Given the description of an element on the screen output the (x, y) to click on. 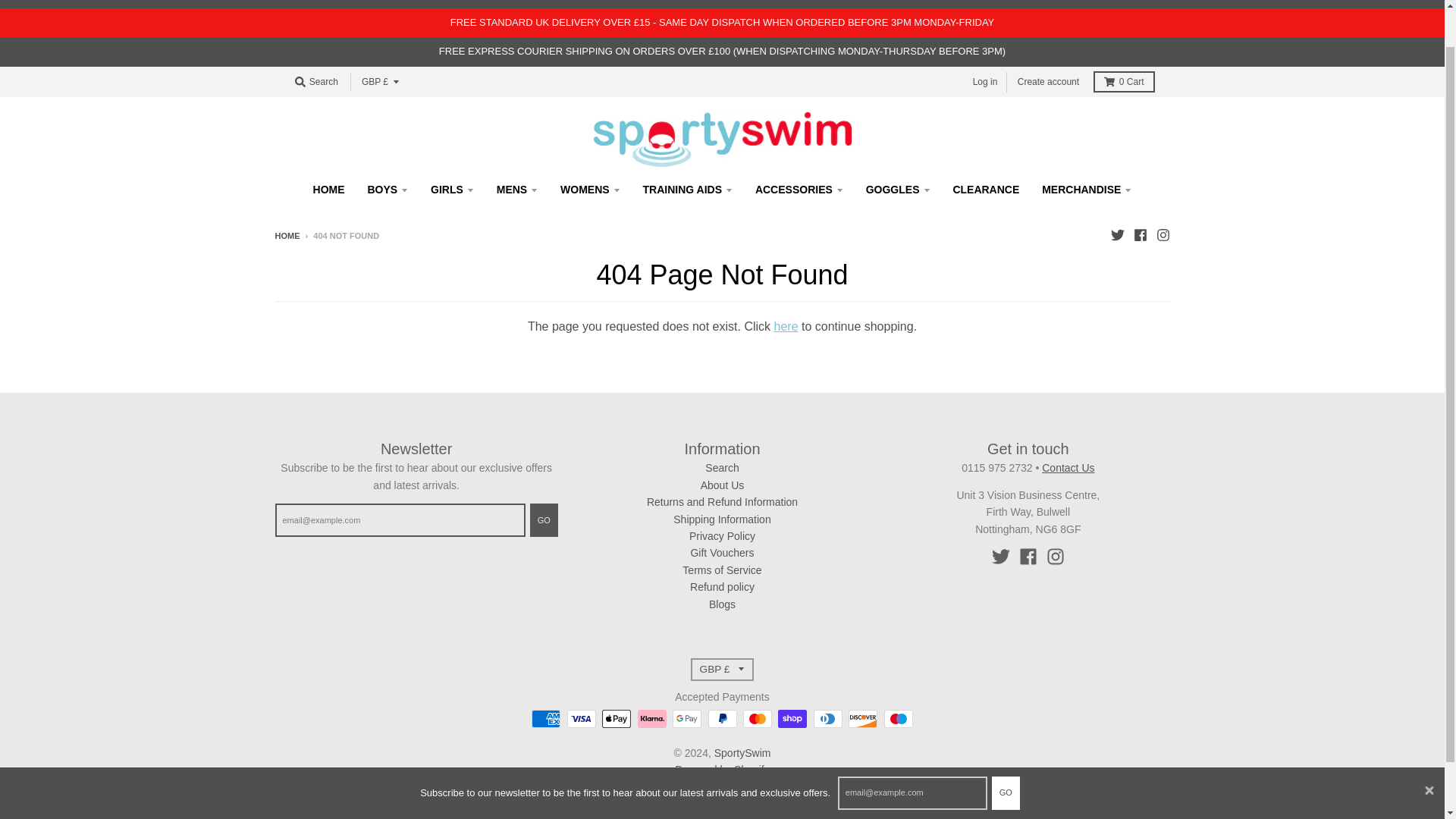
Facebook - SportySwim (1139, 234)
Search (315, 81)
Twitter - SportySwim (1000, 556)
Instagram - SportySwim (1162, 234)
Facebook - SportySwim (1027, 556)
Instagram - SportySwim (1055, 556)
Twitter - SportySwim (1116, 234)
Back to the frontpage (287, 235)
